Given the description of an element on the screen output the (x, y) to click on. 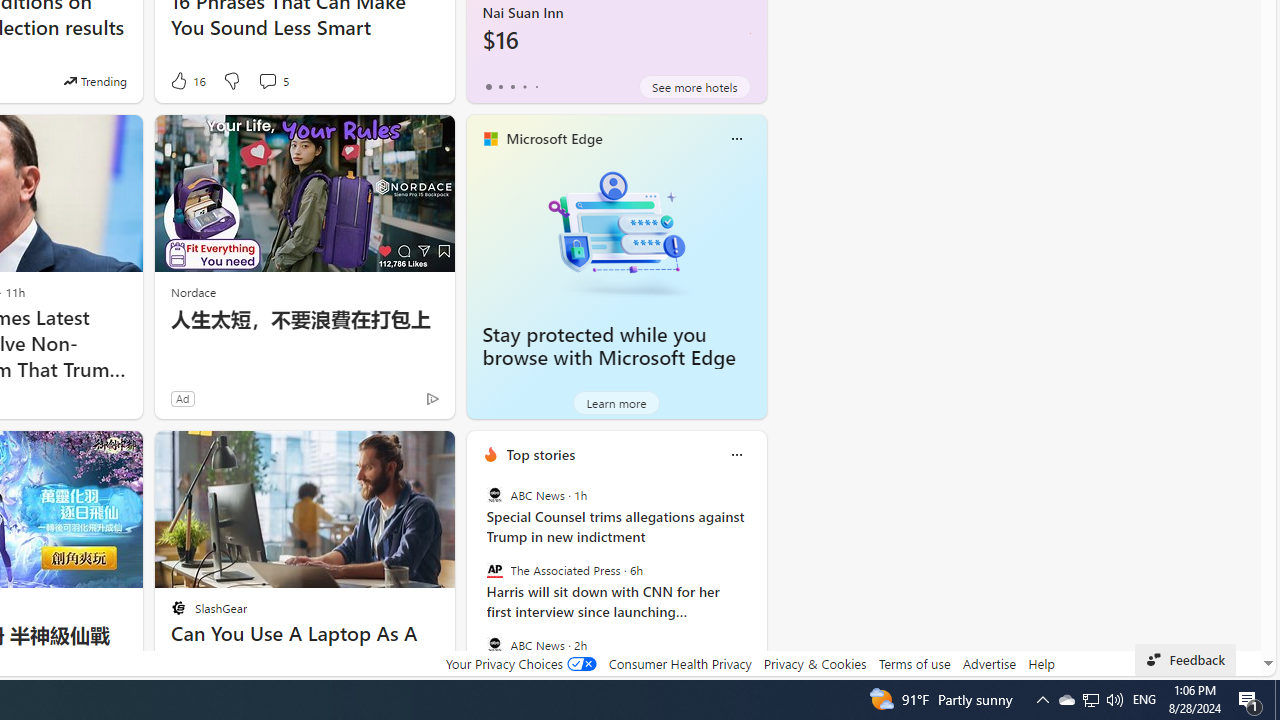
next (756, 583)
Consumer Health Privacy (680, 663)
This story is trending (95, 80)
Advertise (989, 663)
Stay protected while you browse with Microsoft Edge (616, 232)
Learn more (616, 402)
tab-4 (535, 86)
Top stories (540, 454)
The Associated Press (494, 570)
Privacy & Cookies (814, 663)
See more hotels (694, 86)
